Given the description of an element on the screen output the (x, y) to click on. 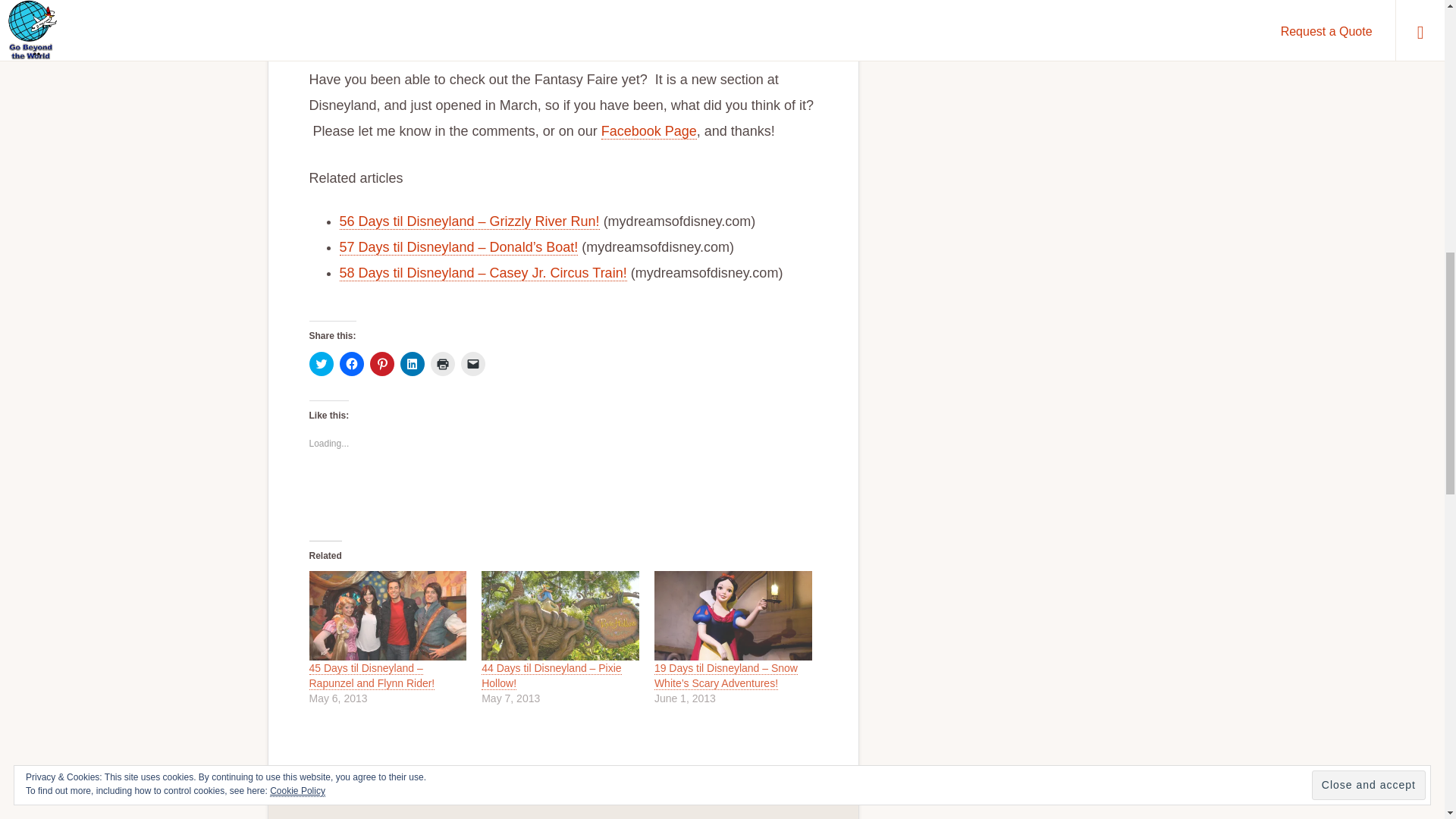
Click to share on Twitter (320, 363)
Click to share on LinkedIn (412, 363)
Facebook Page (649, 131)
Click to email a link to a friend (472, 363)
Click to print (442, 363)
Click to share on Facebook (351, 363)
Like or Reblog (562, 492)
Click to share on Pinterest (381, 363)
